Given the description of an element on the screen output the (x, y) to click on. 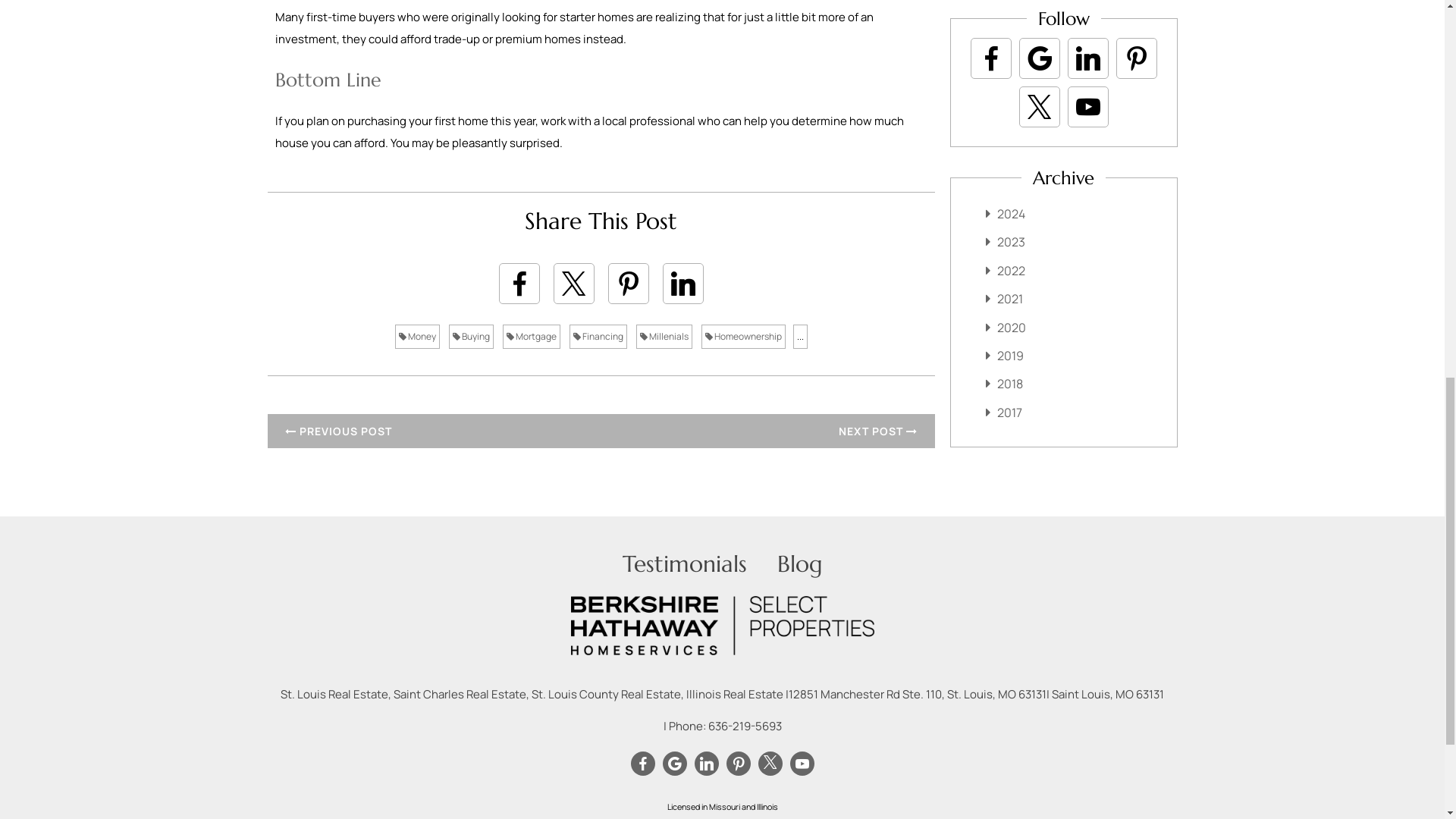
Visit me on Pinterest (1136, 57)
Share on Facebook (519, 282)
Visit me on YouTube (801, 763)
Visit me on YouTube (1087, 106)
Visit me on LinkedIn (705, 763)
Visit me on Facebook (990, 57)
Visit me on Facebook (641, 763)
Visit me on LinkedIn (1087, 57)
Share on X (573, 282)
Share on Pinterest (628, 282)
Visit me on Google (1038, 57)
Share on Linked In (682, 282)
Visit me on Google (673, 763)
Testimonials (683, 563)
Visit me on Pinterest (737, 763)
